Given the description of an element on the screen output the (x, y) to click on. 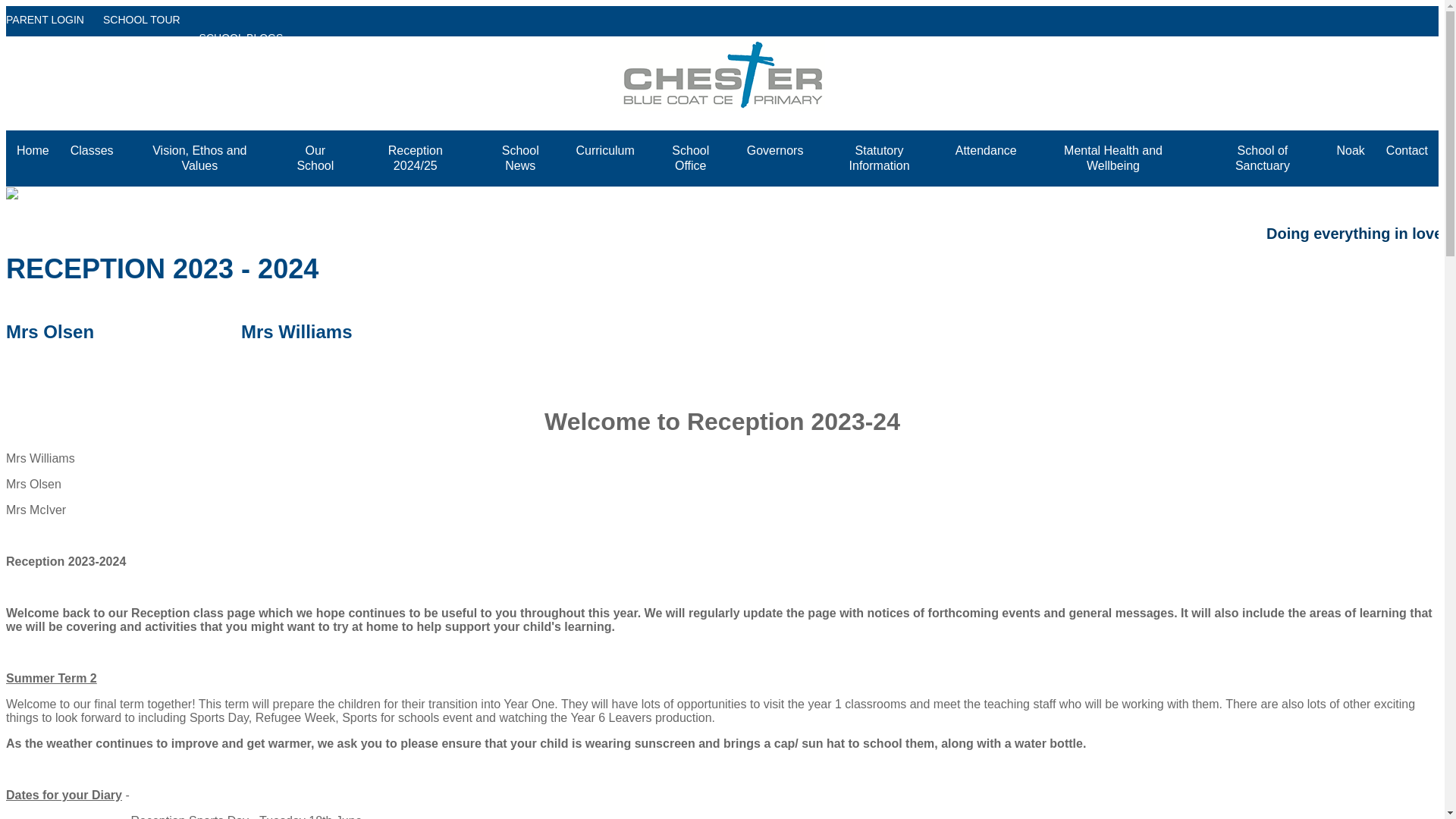
Home (32, 150)
SCHOOL TOUR (145, 28)
Vision, Ethos and Values (199, 158)
PARENT LOGIN (48, 28)
Classes (91, 150)
SCHOOL BLOGS (245, 37)
